Given the description of an element on the screen output the (x, y) to click on. 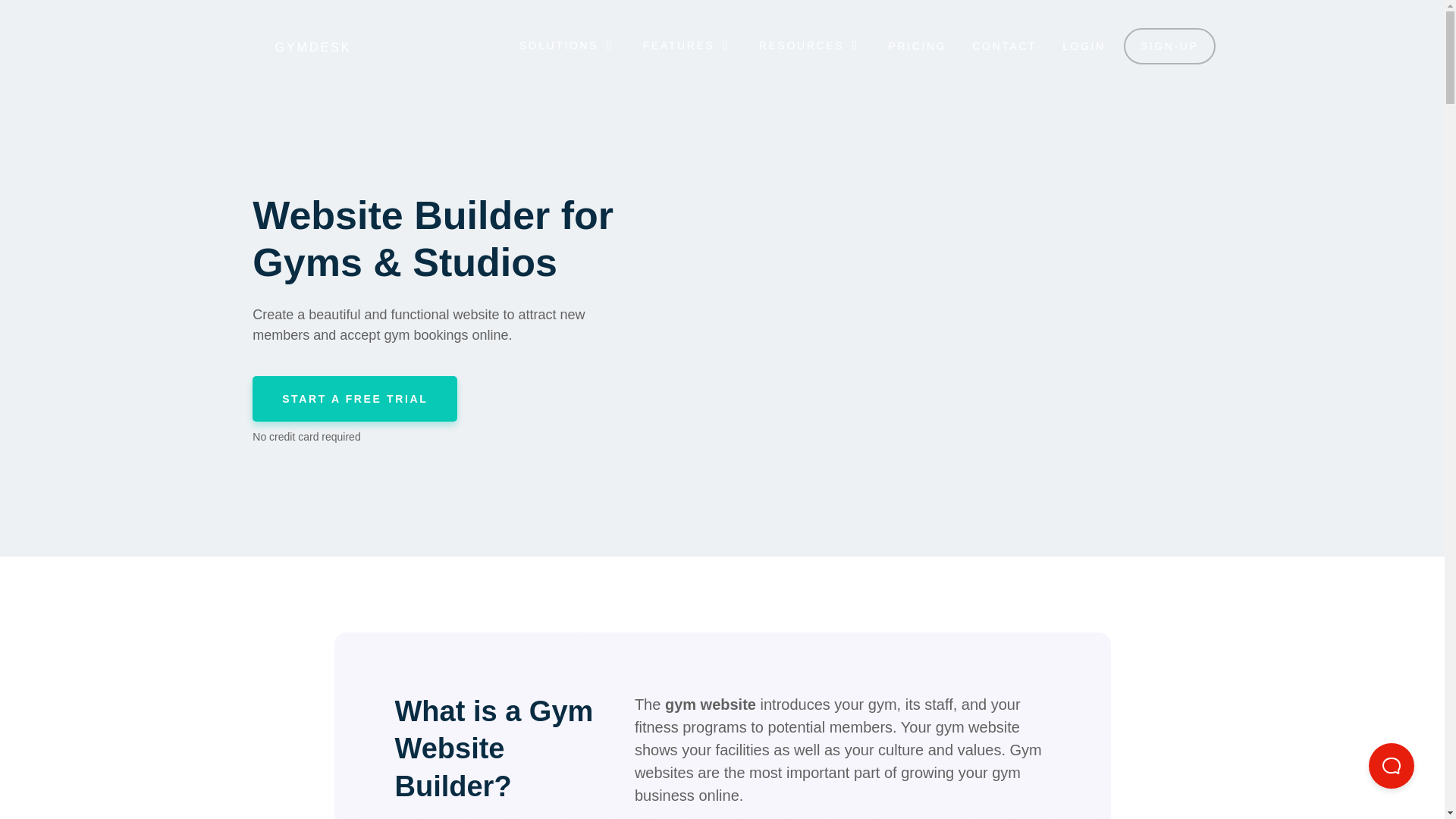
LOGIN (1083, 45)
START A FREE TRIAL (354, 398)
PRICING (917, 45)
SIGN-UP (1169, 45)
CONTACT (1003, 45)
GYMDESK (285, 47)
Homepage - Gymdesk (285, 47)
